Given the description of an element on the screen output the (x, y) to click on. 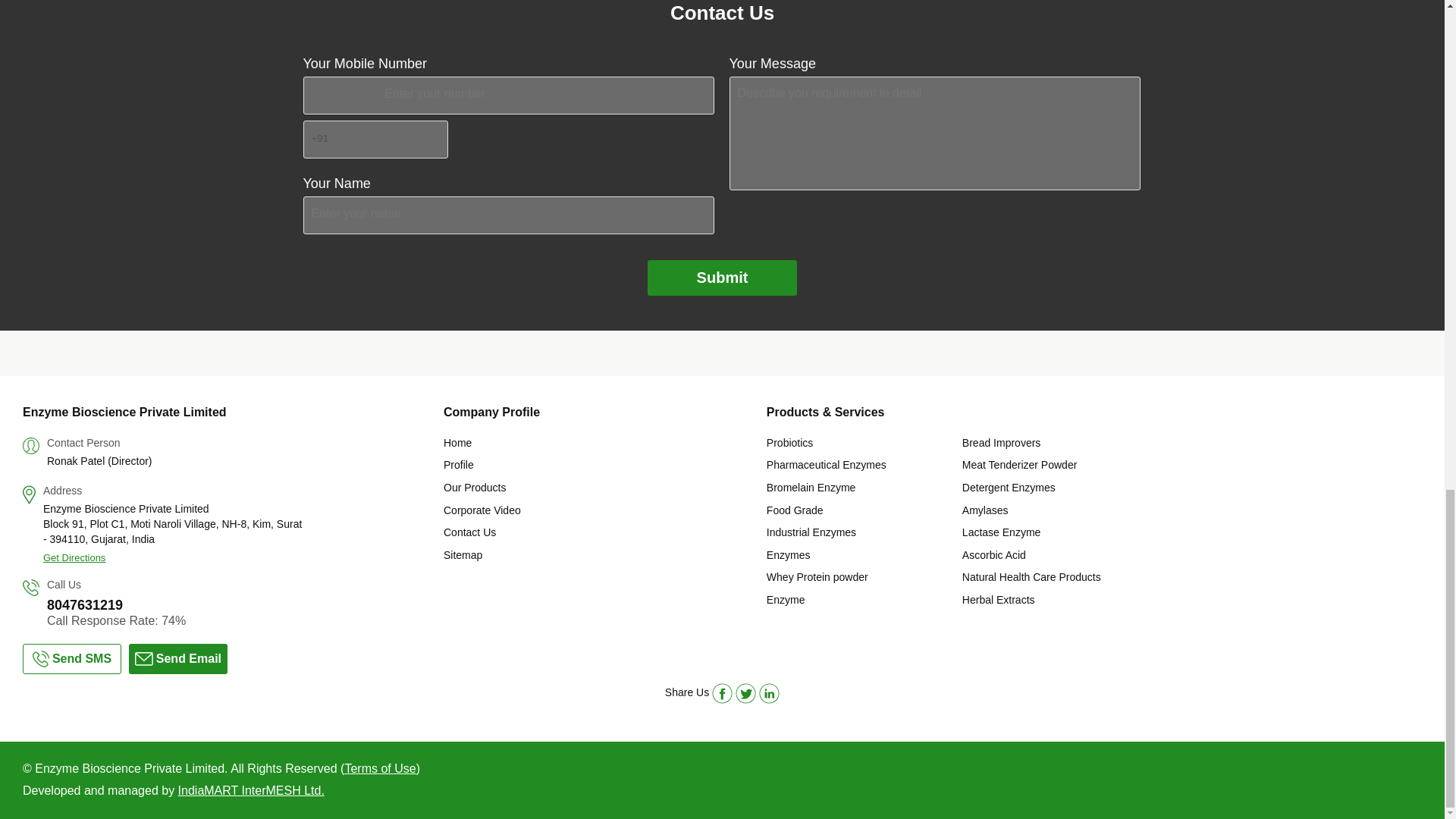
Submit (722, 277)
